Given the description of an element on the screen output the (x, y) to click on. 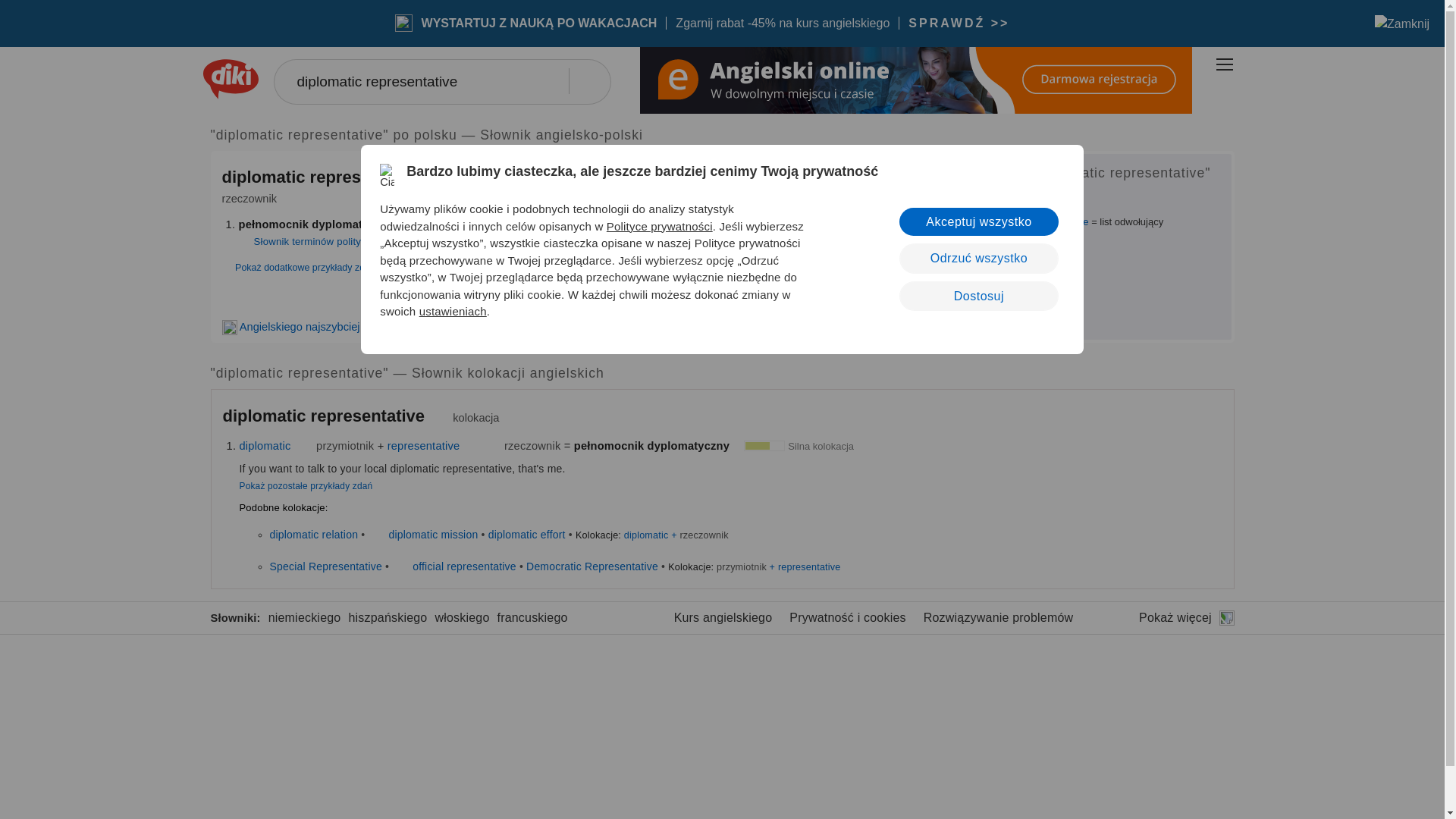
representative (423, 445)
British English (378, 533)
diplomatic representative (441, 81)
letter revocating the diplomatic representative (988, 221)
British English (472, 445)
Special Representative (325, 565)
American English (439, 417)
American English (490, 445)
American English (438, 178)
official representative (464, 565)
